Given the description of an element on the screen output the (x, y) to click on. 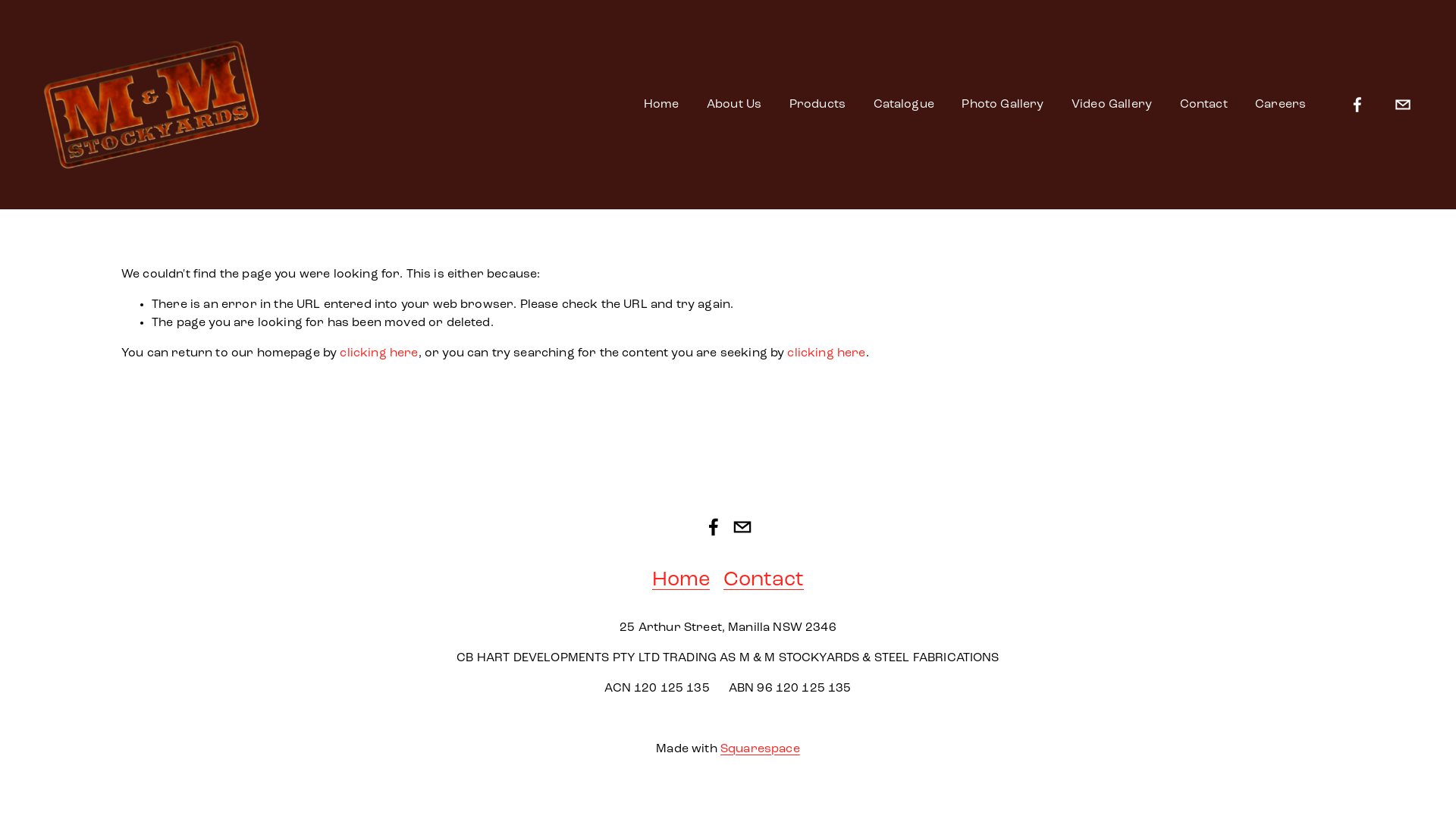
clicking here Element type: text (378, 353)
Contact Element type: text (763, 580)
Squarespace Element type: text (760, 749)
clicking here Element type: text (826, 353)
Video Gallery Element type: text (1111, 104)
About Us Element type: text (733, 104)
Contact Element type: text (1203, 104)
Products Element type: text (817, 104)
Photo Gallery Element type: text (1002, 104)
Home Element type: text (661, 104)
Careers Element type: text (1280, 104)
Catalogue Element type: text (903, 104)
Home Element type: text (680, 580)
